Given the description of an element on the screen output the (x, y) to click on. 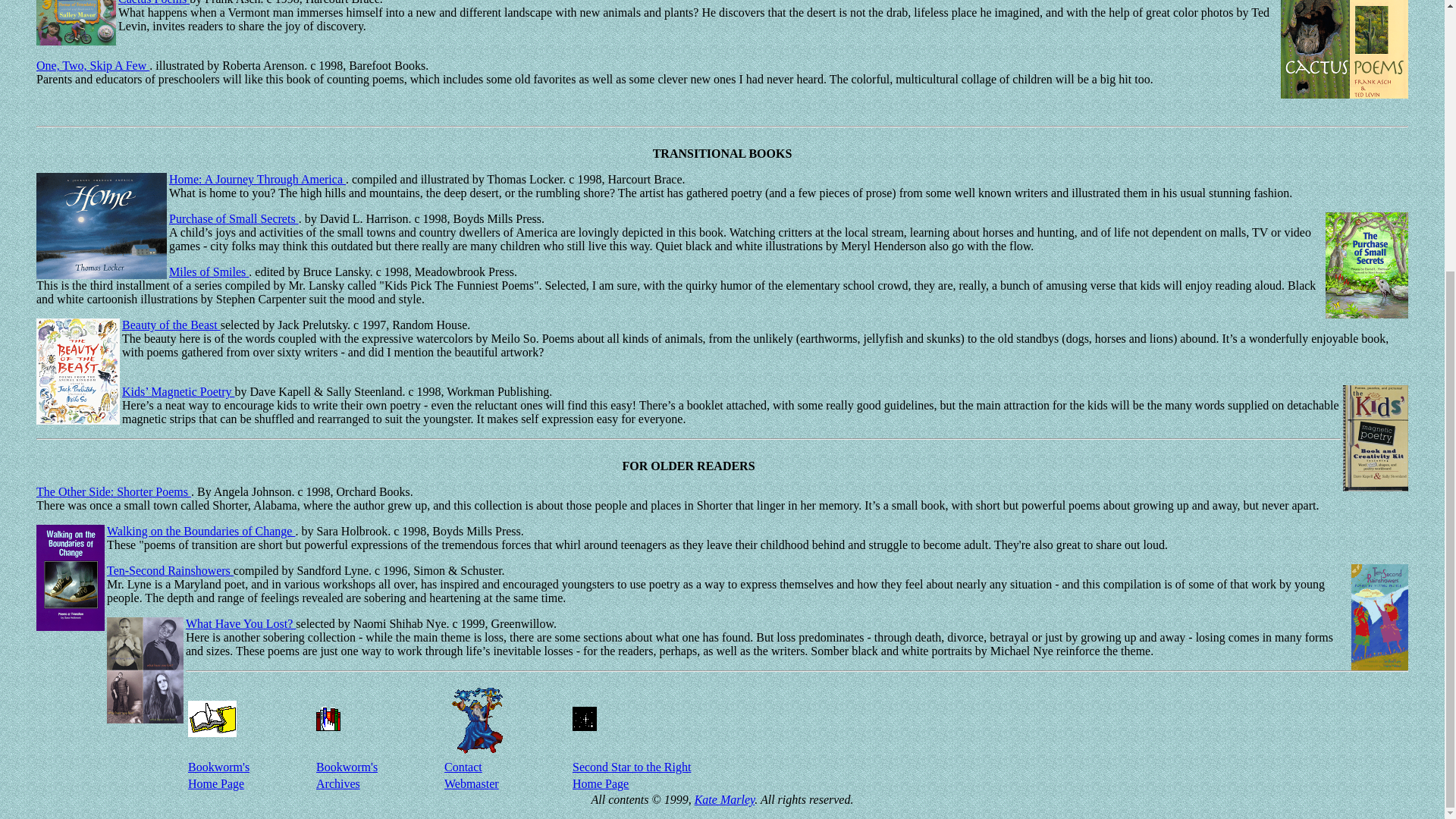
The Other Side: Shorter Poems (113, 491)
What Have You Lost? (240, 623)
Second Star to the Right (631, 766)
Beauty of the Beast (171, 324)
Ten-Second Rainshowers (169, 570)
Bookworm's (217, 766)
Home Page (600, 783)
Cactus Poems (153, 2)
Walking on the Boundaries of Change (200, 530)
Kate Marley (724, 799)
One, Two, Skip A Few (92, 65)
Home: A Journey Through America (257, 178)
Home Page (215, 783)
Contact (462, 766)
Bookworm's (346, 766)
